Given the description of an element on the screen output the (x, y) to click on. 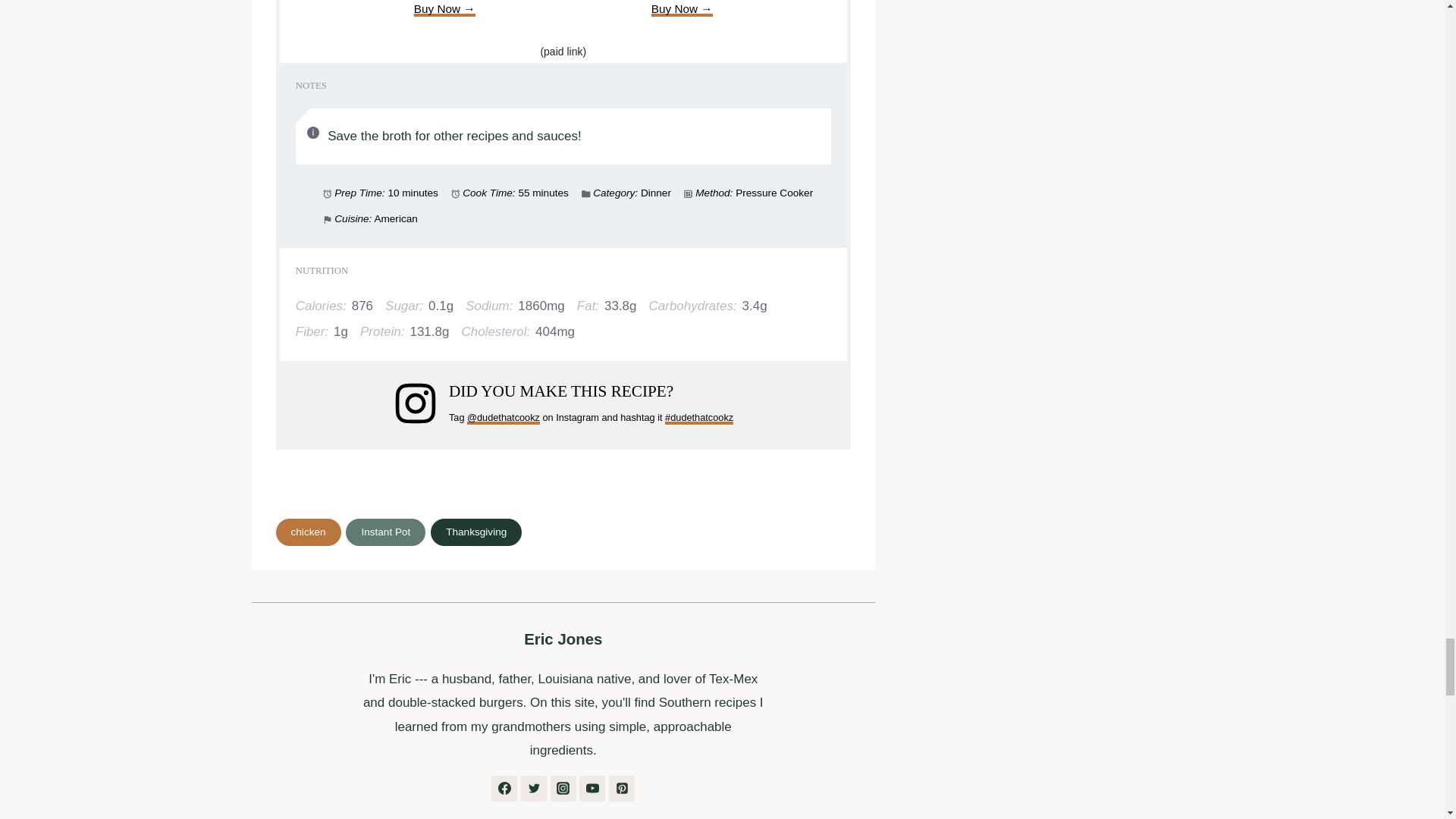
Instant Pot (385, 531)
Follow Eric Jones on Instagram (563, 788)
Follow Eric Jones on Youtube (592, 788)
Thanksgiving (475, 531)
Posts by Eric Jones (563, 638)
Follow Eric Jones on Facebook (504, 788)
chicken (308, 531)
Follow Eric Jones on Twitter (534, 788)
Follow Eric Jones on Pinterest (621, 788)
